Given the description of an element on the screen output the (x, y) to click on. 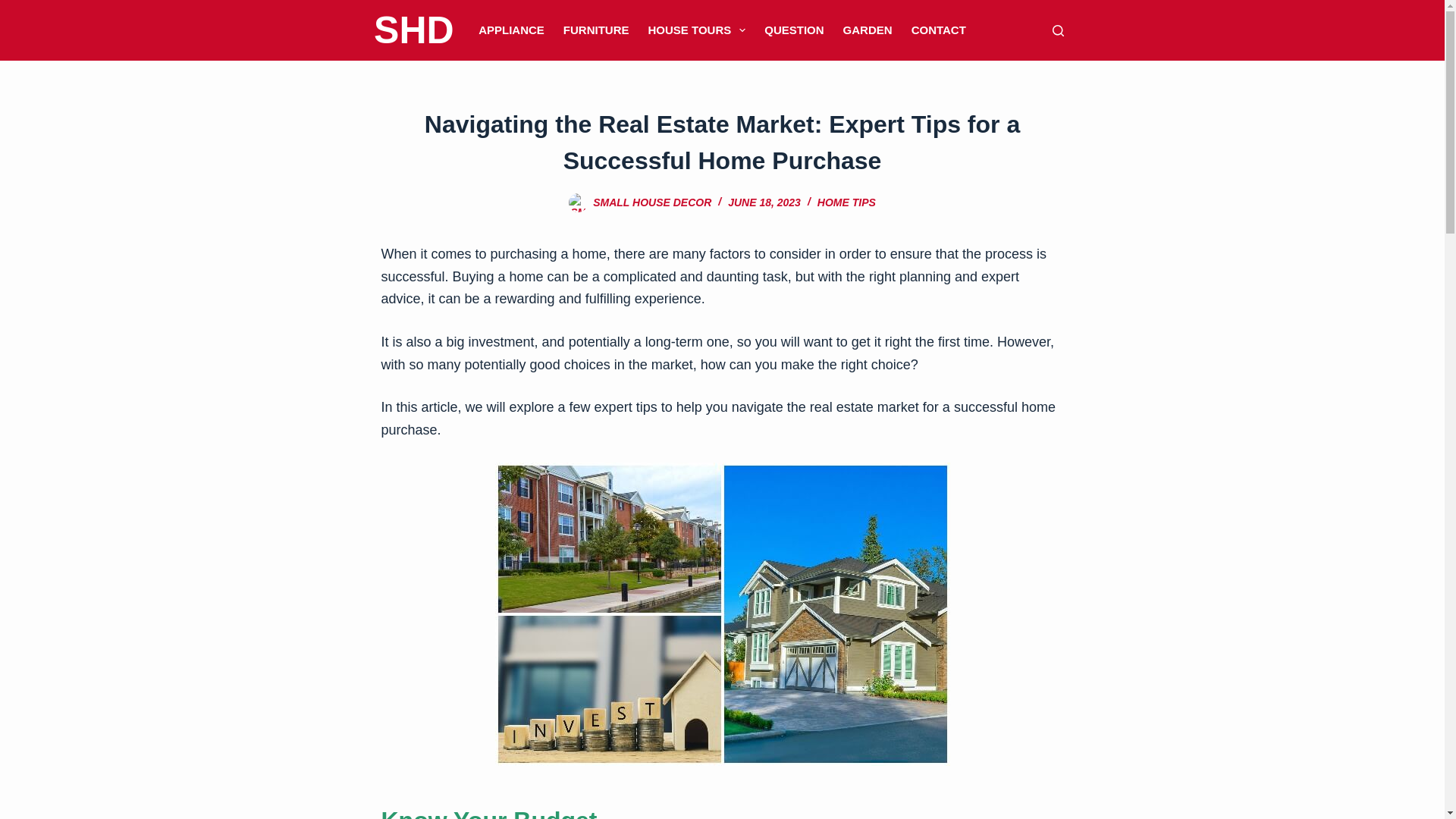
SHD (414, 30)
Posts by Small House Decor (651, 202)
HOME TIPS (846, 202)
GARDEN (866, 30)
Skip to content (15, 7)
QUESTION (793, 30)
CONTACT (938, 30)
SMALL HOUSE DECOR (651, 202)
HOUSE TOURS (697, 30)
FURNITURE (596, 30)
APPLIANCE (511, 30)
